Given the description of an element on the screen output the (x, y) to click on. 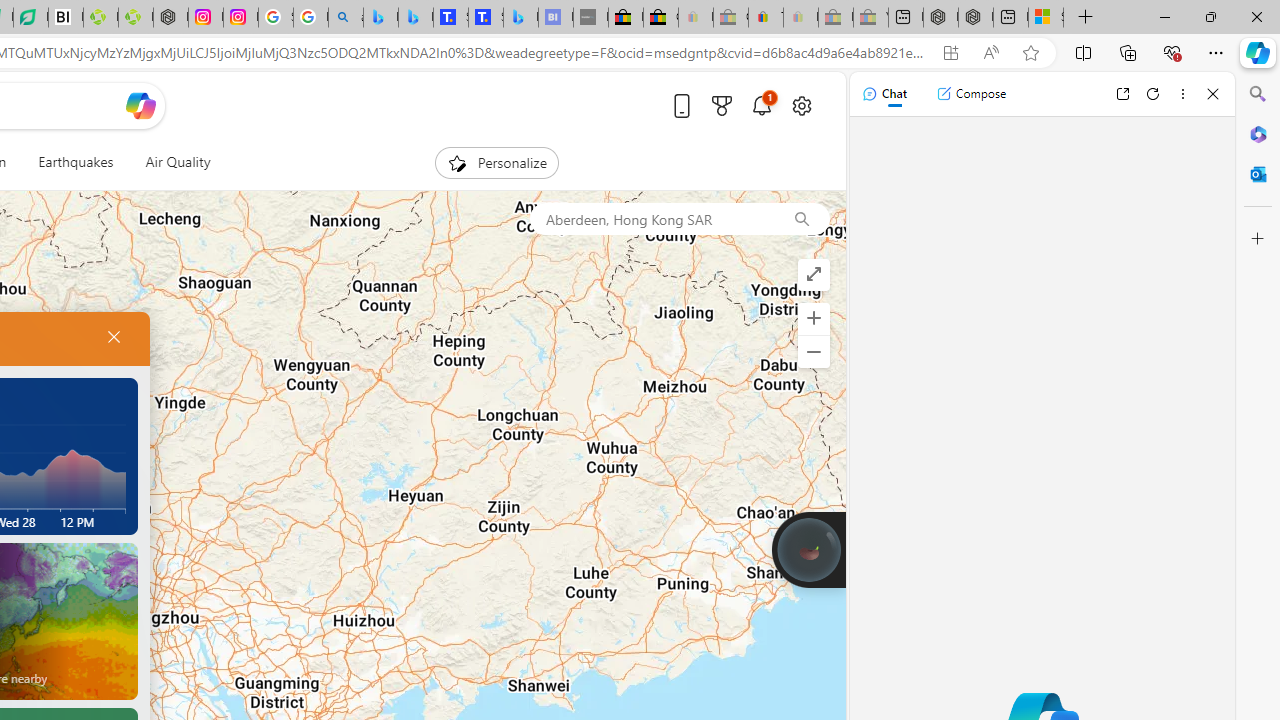
Zoom in (813, 318)
Air Quality (177, 162)
Safety in Our Products - Google Safety Center (275, 17)
Microsoft Bing Travel - Flights from Hong Kong to Bangkok (380, 17)
Air Quality (170, 162)
Nordace - Summer Adventures 2024 (975, 17)
Enter full screen mode (813, 274)
Payments Terms of Use | eBay.com - Sleeping (800, 17)
